Given the description of an element on the screen output the (x, y) to click on. 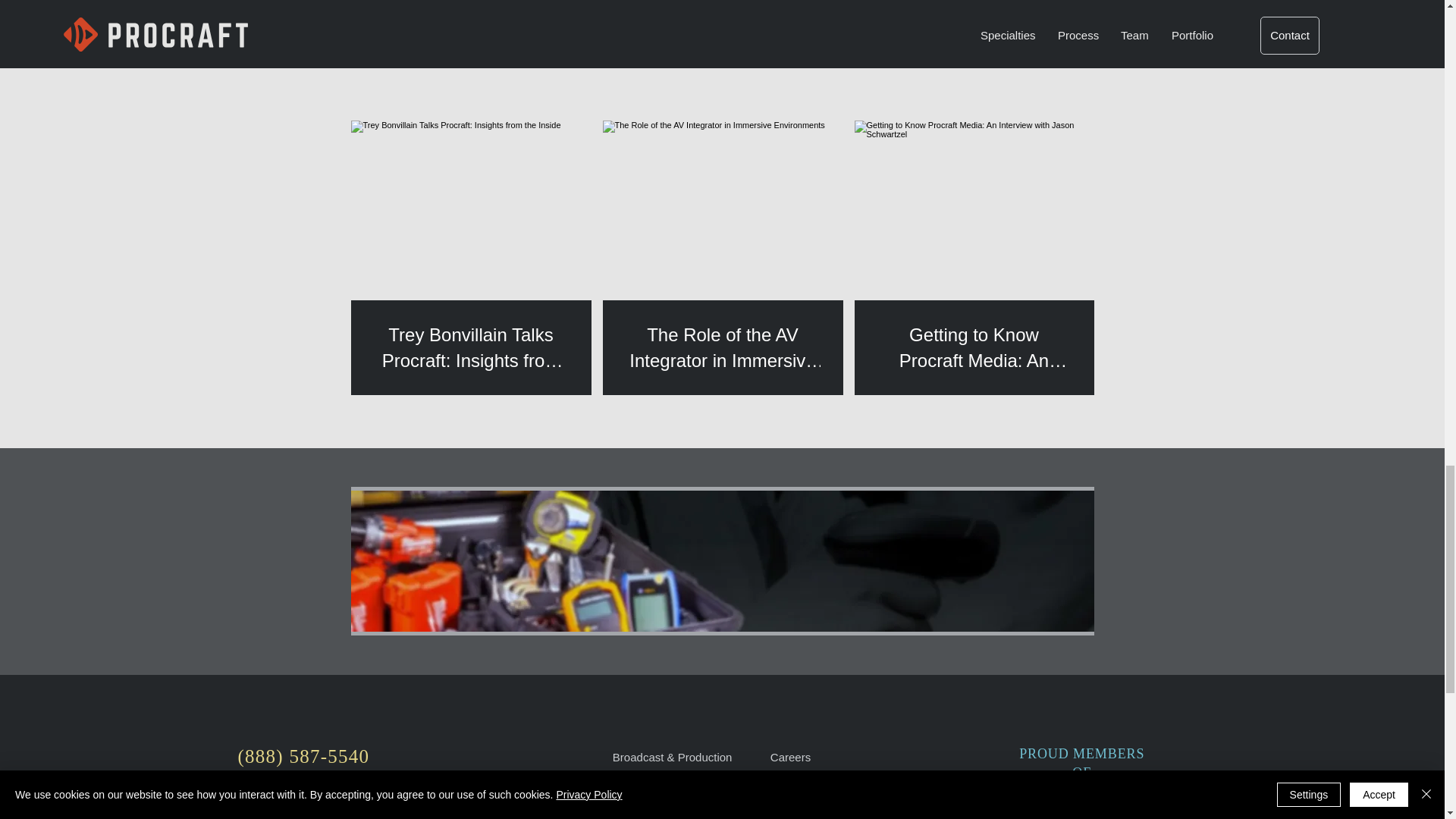
Themed Environments (669, 799)
Careers (790, 757)
Privacy Policy (805, 817)
Trey Bonvillain Talks Procraft: Insights from the Inside (469, 347)
The Role of the AV Integrator in Immersive Environments (721, 347)
Terms (786, 799)
Blog (781, 778)
